Given the description of an element on the screen output the (x, y) to click on. 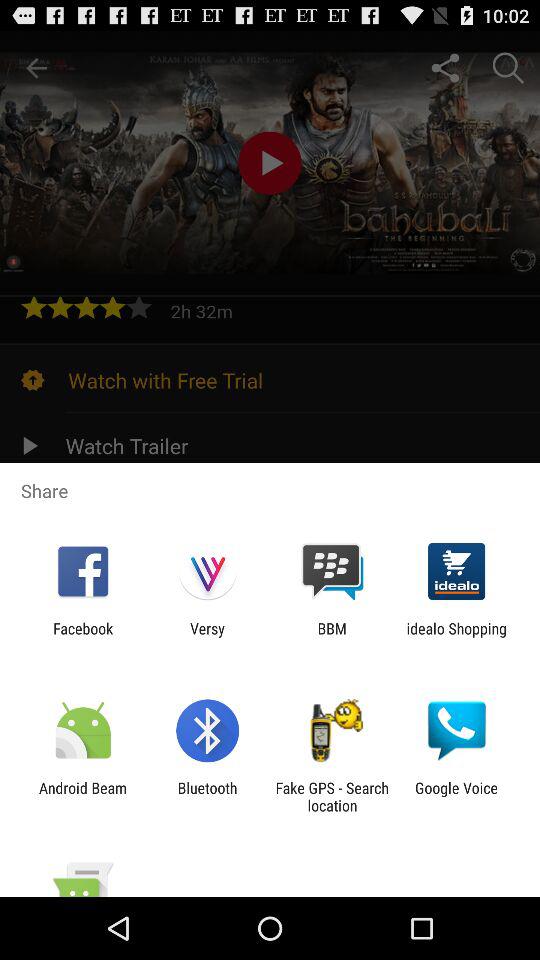
turn off icon to the left of bluetooth (83, 796)
